Given the description of an element on the screen output the (x, y) to click on. 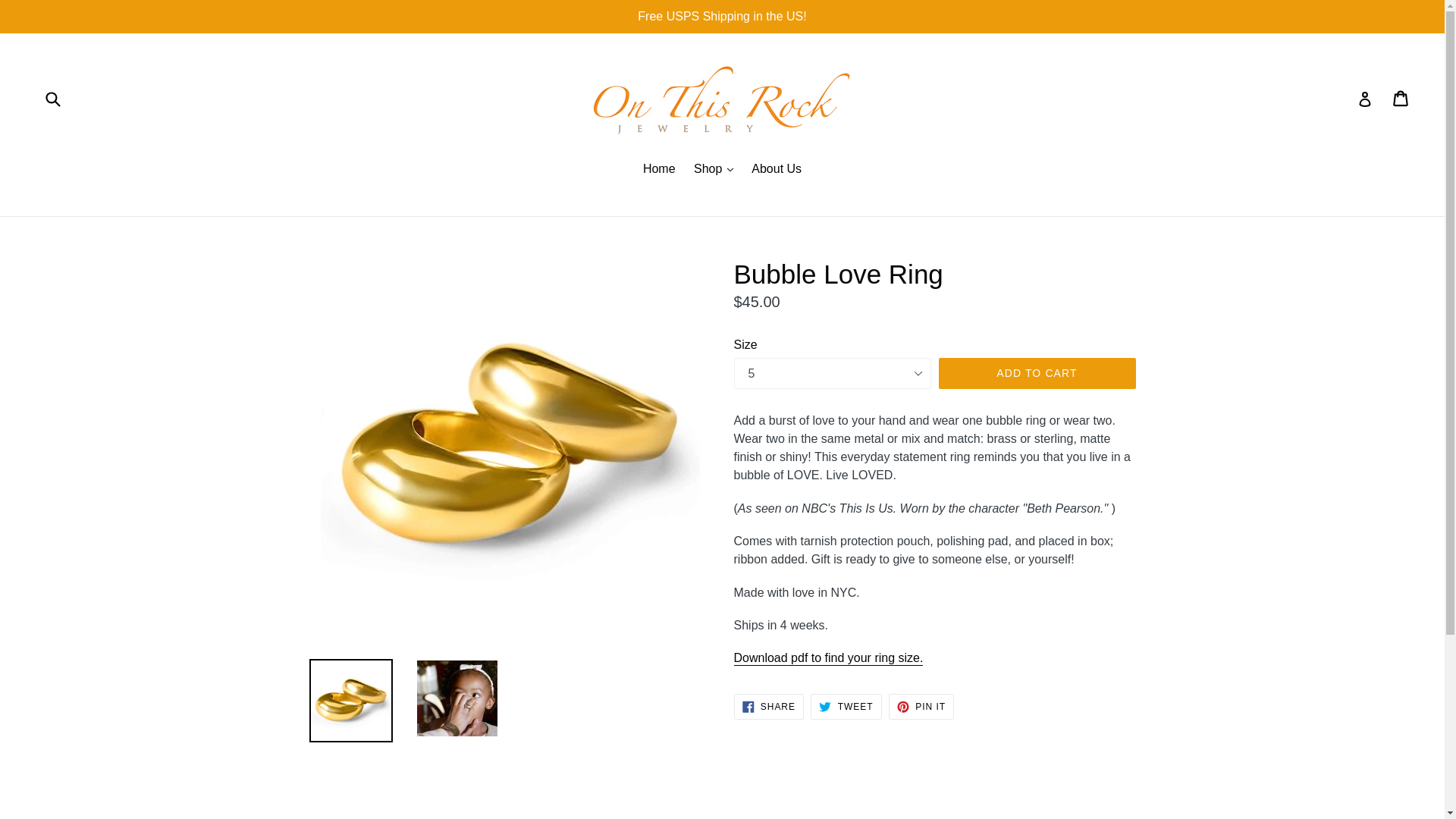
Share on Facebook (768, 706)
Download pdf to find your ring size. (828, 658)
About Us (845, 706)
Pin on Pinterest (776, 169)
Home (920, 706)
ADD TO CART (658, 169)
Ring Sizer pdf (1037, 373)
Tweet on Twitter (828, 658)
